Given the description of an element on the screen output the (x, y) to click on. 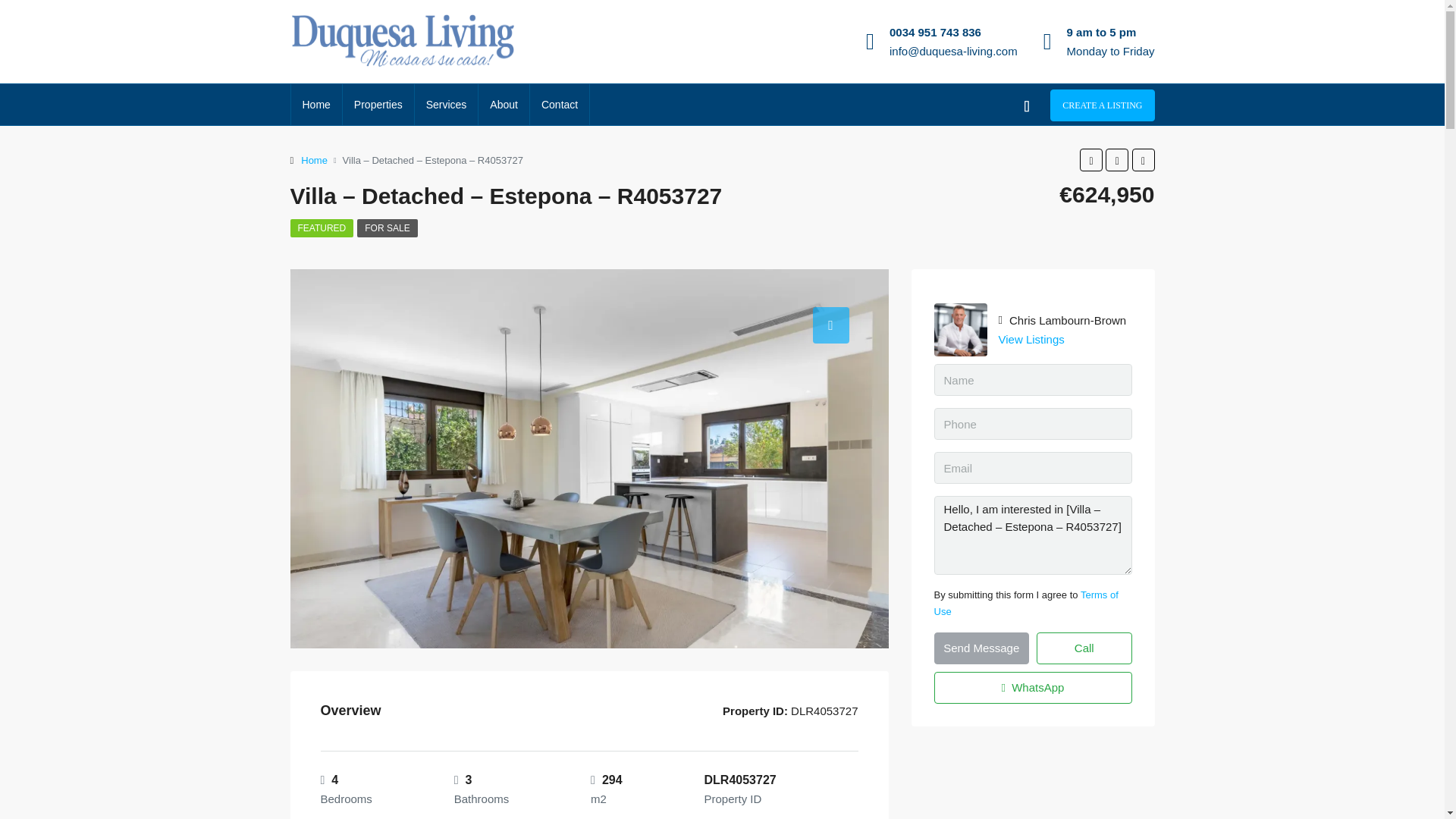
CREATE A LISTING (1101, 105)
0034 951 743 836 (935, 31)
About (504, 104)
Services (446, 104)
Properties (377, 104)
Home (316, 104)
Contact (559, 104)
Home (314, 158)
